Given the description of an element on the screen output the (x, y) to click on. 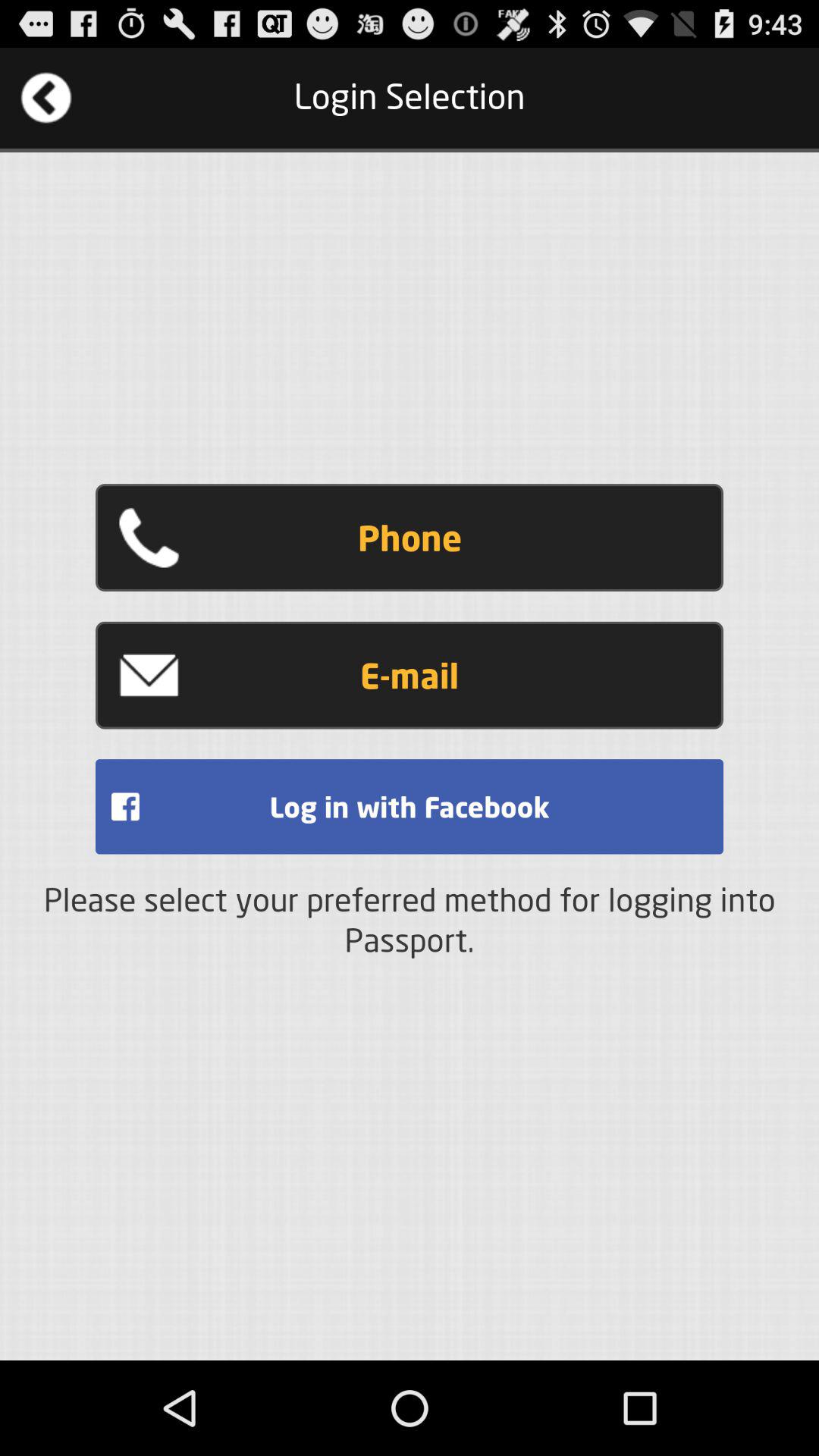
launch e-mail icon (409, 675)
